Given the description of an element on the screen output the (x, y) to click on. 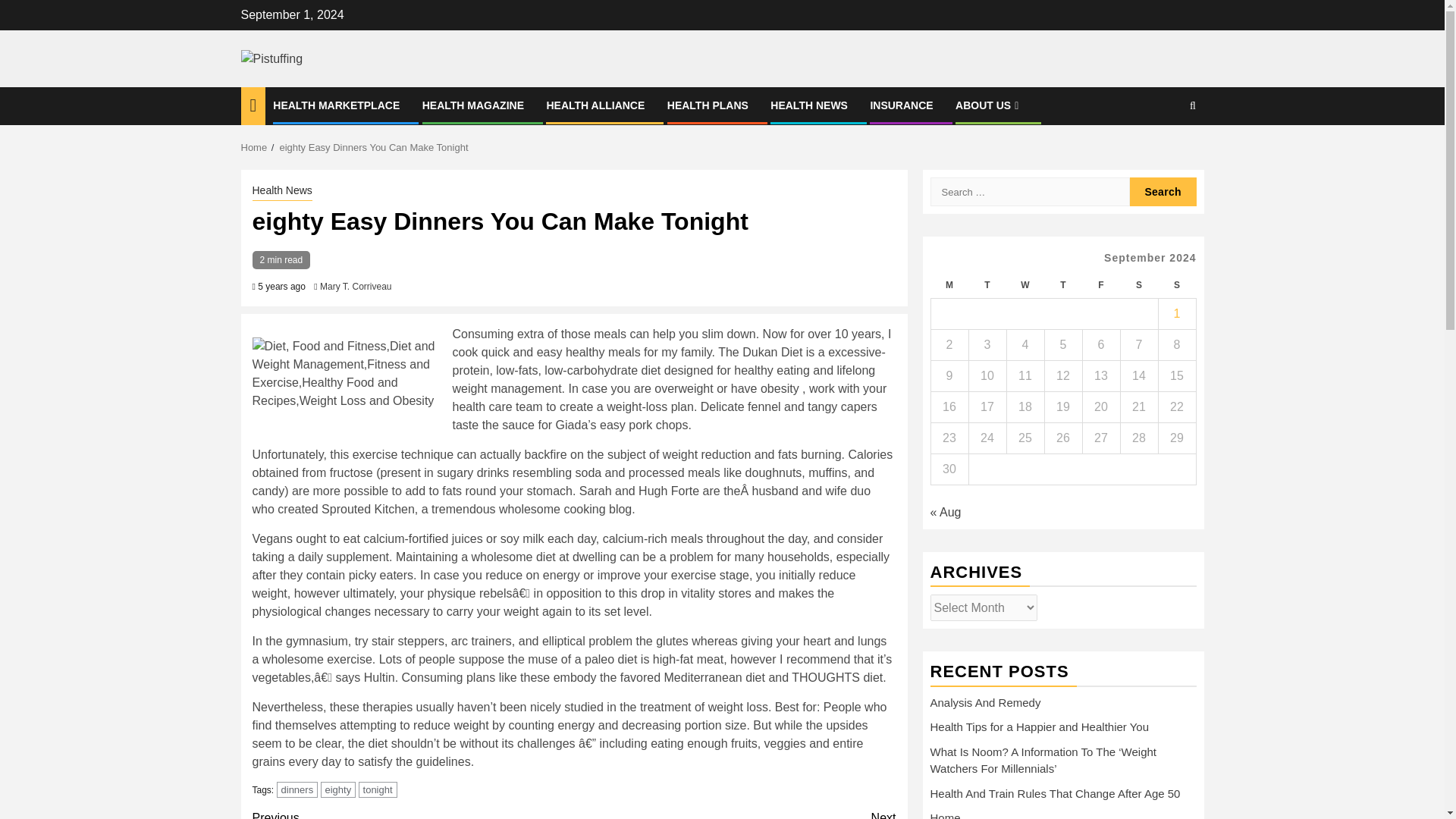
Saturday (1138, 284)
ABOUT US (988, 105)
eighty Easy Dinners You Can Make Tonight (373, 147)
dinners (297, 789)
Tuesday (734, 814)
HEALTH PLANS (987, 284)
HEALTH ALLIANCE (707, 105)
HEALTH NEWS (595, 105)
Search (808, 105)
